Given the description of an element on the screen output the (x, y) to click on. 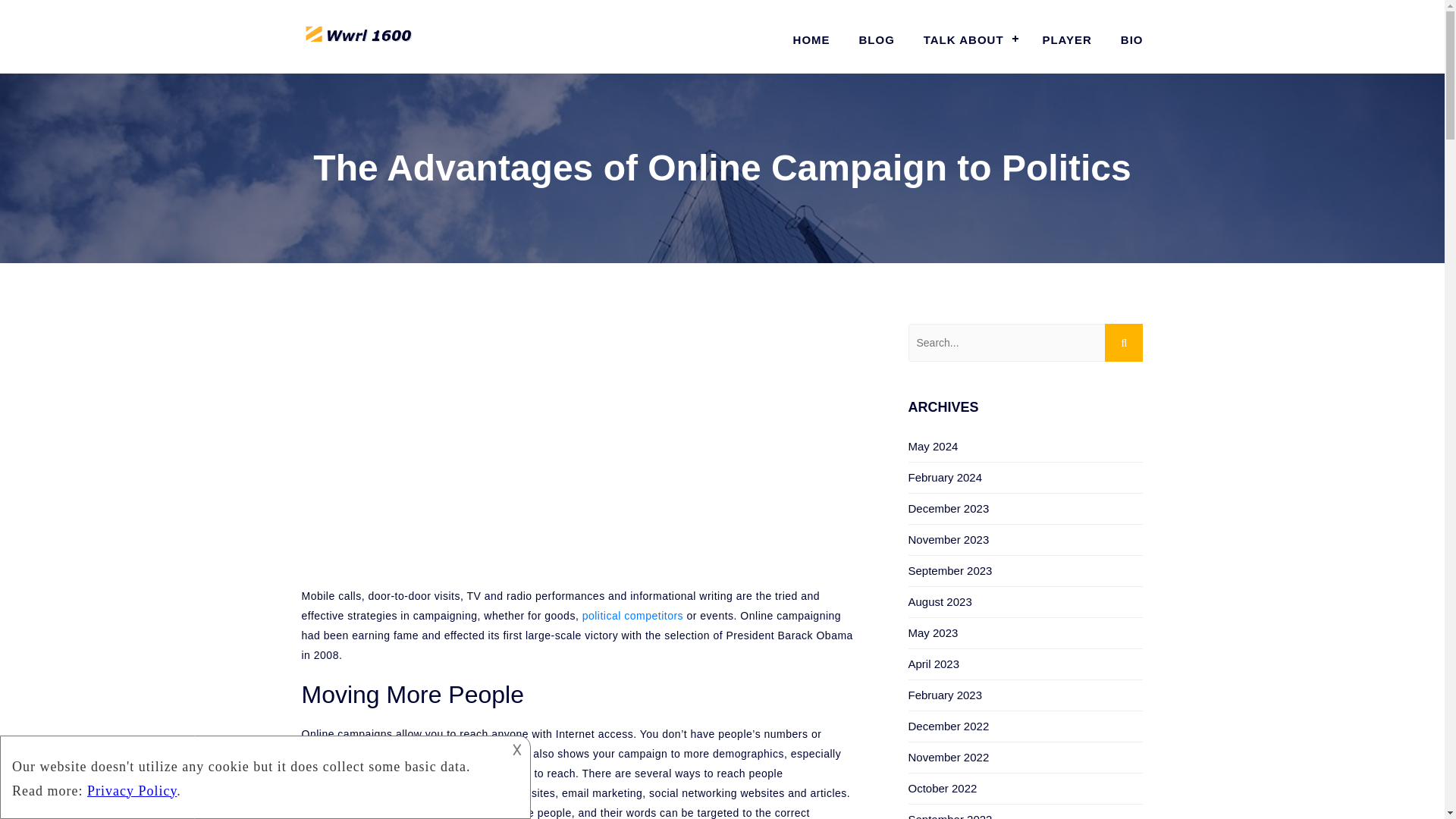
BIO (1125, 39)
TALK ABOUT (968, 39)
September 2023 (950, 570)
February 2023 (945, 694)
December 2022 (949, 725)
September 2022 (950, 816)
May 2023 (933, 632)
6 Rules In Creating Political Art (632, 615)
political competitors (632, 615)
BLOG (876, 39)
November 2022 (949, 757)
HOME (811, 39)
December 2023 (949, 508)
August 2023 (940, 601)
February 2024 (945, 477)
